Given the description of an element on the screen output the (x, y) to click on. 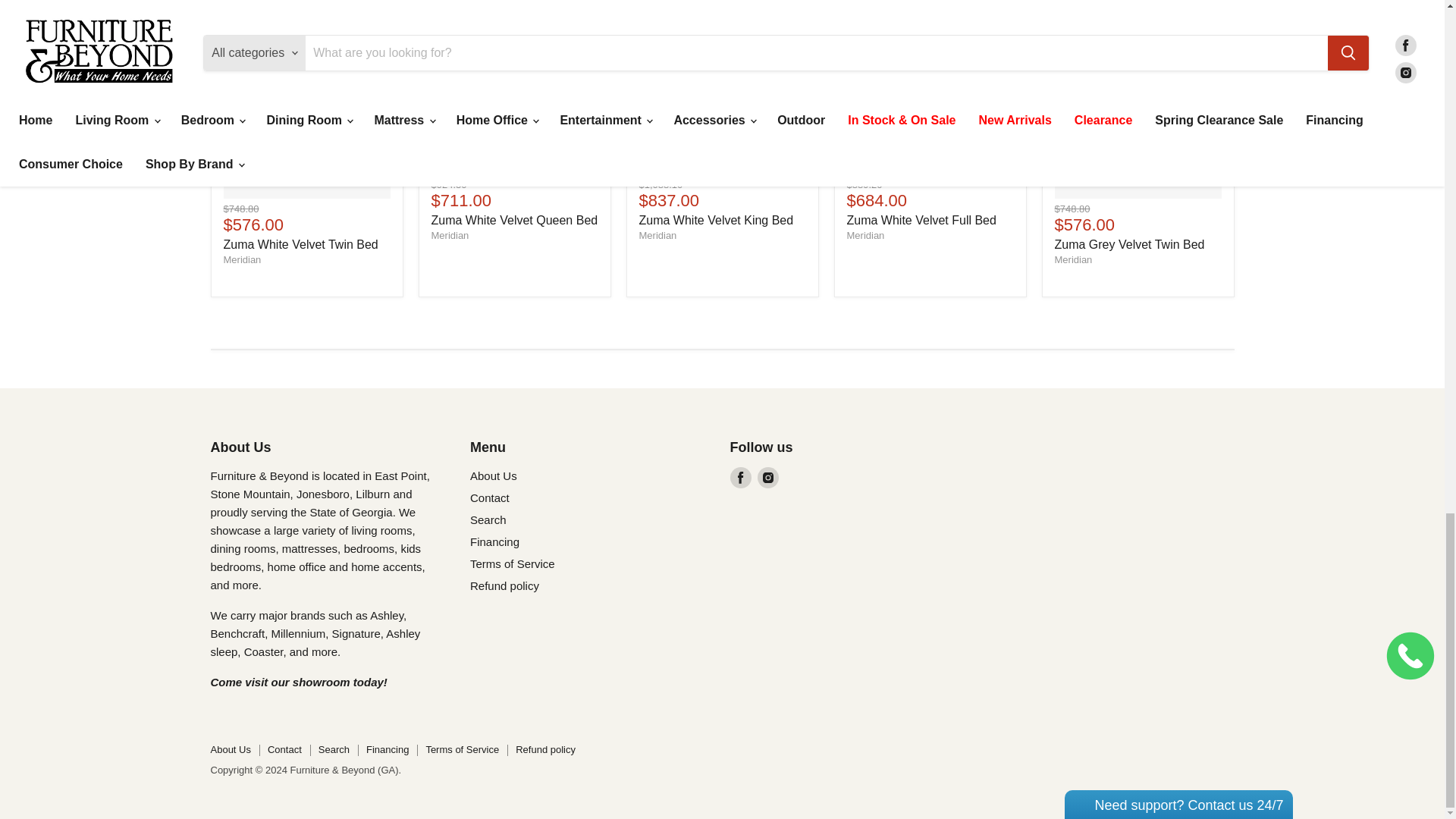
Meridian (1073, 259)
Facebook (740, 477)
Instagram (767, 477)
Meridian (241, 259)
Meridian (449, 235)
Meridian (864, 235)
Meridian (658, 235)
